Given the description of an element on the screen output the (x, y) to click on. 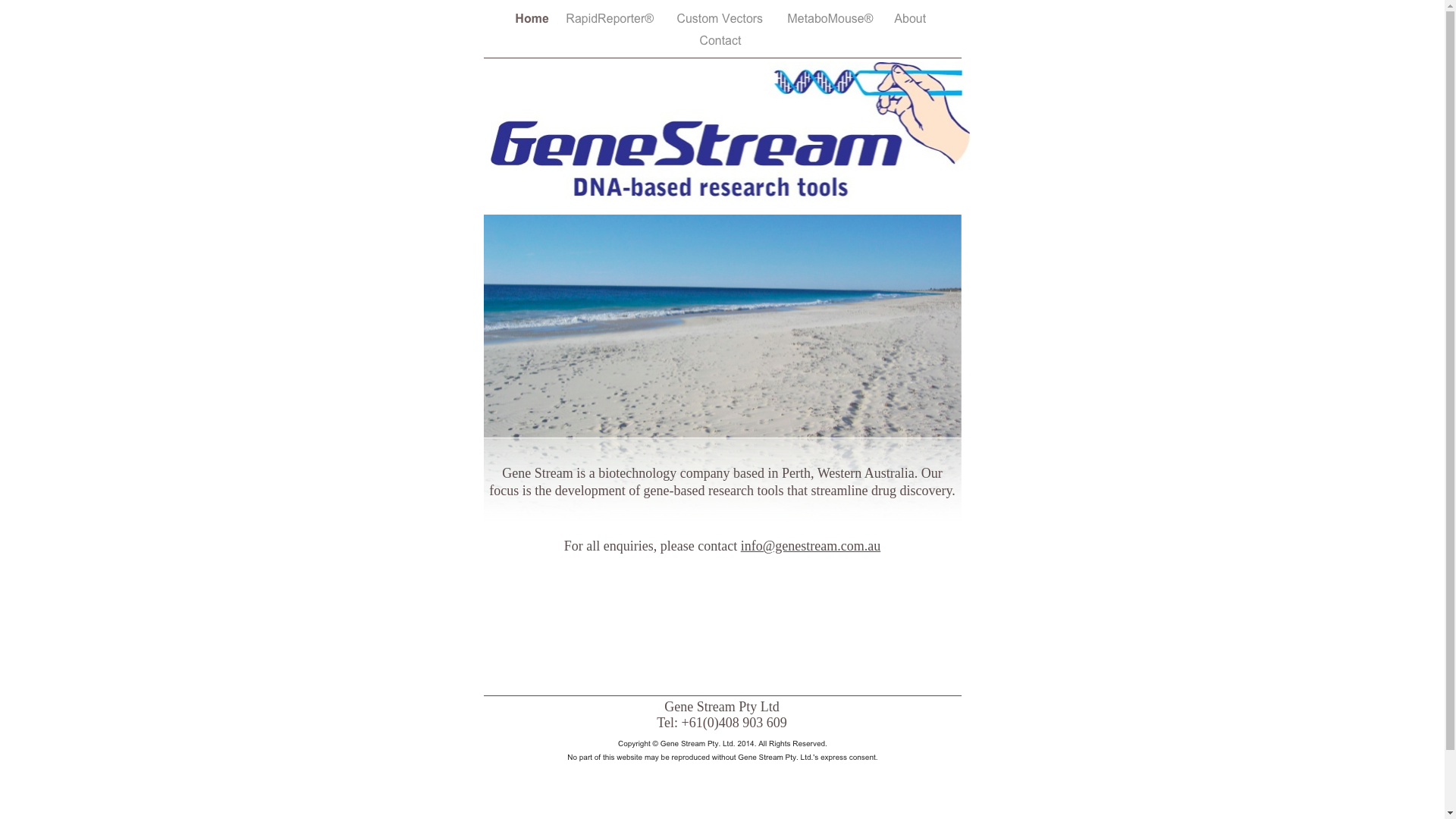
info@genestream.com.au Element type: text (810, 545)
